Given the description of an element on the screen output the (x, y) to click on. 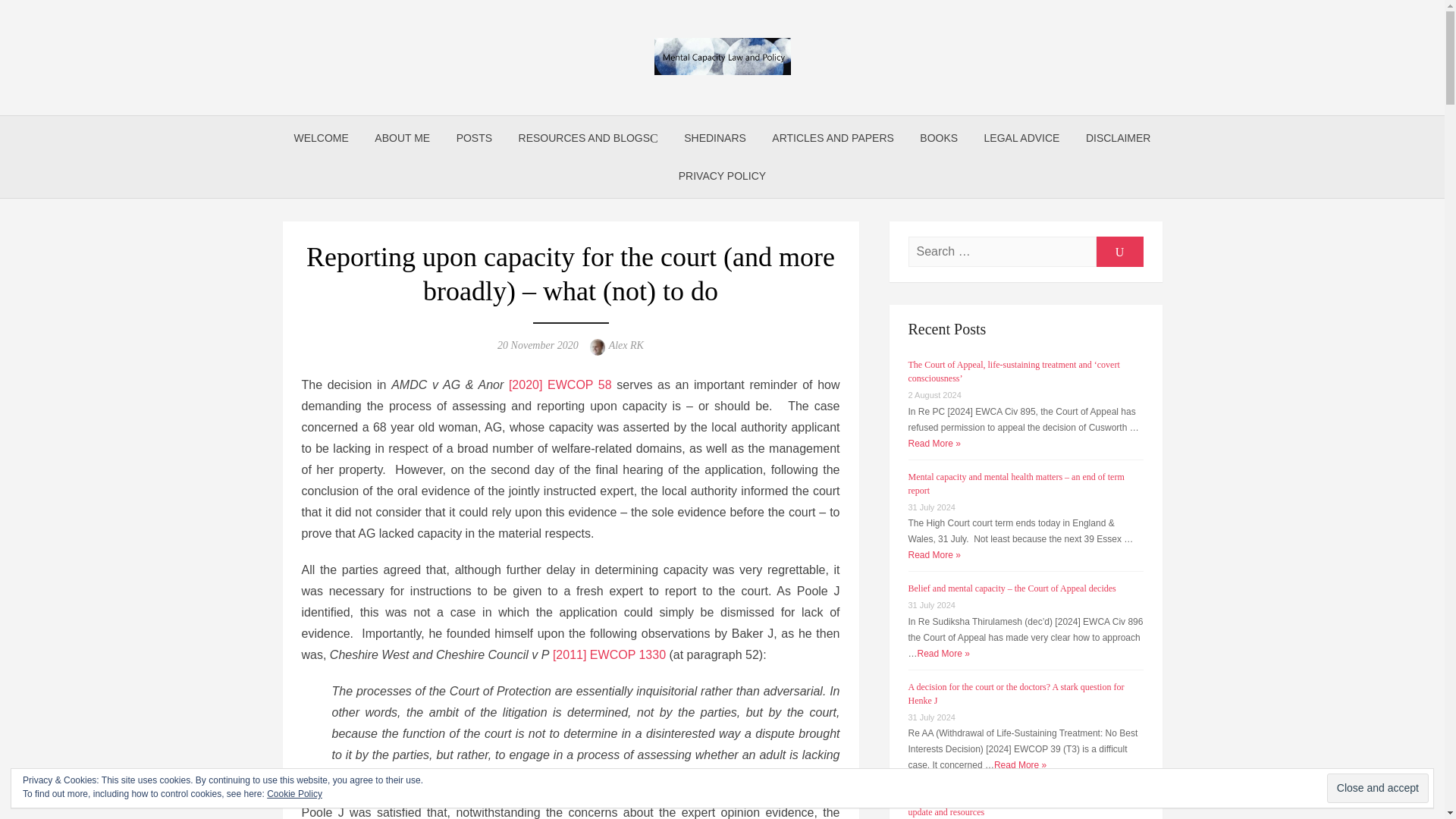
Close and accept (1377, 788)
ABOUT ME (401, 137)
RESOURCES AND BLOGS (587, 137)
POSTS (474, 137)
WELCOME (320, 137)
BOOKS (938, 137)
LEGAL ADVICE (1021, 137)
DISCLAIMER (1117, 137)
Alex RK (625, 345)
ARTICLES AND PAPERS (832, 137)
